Given the description of an element on the screen output the (x, y) to click on. 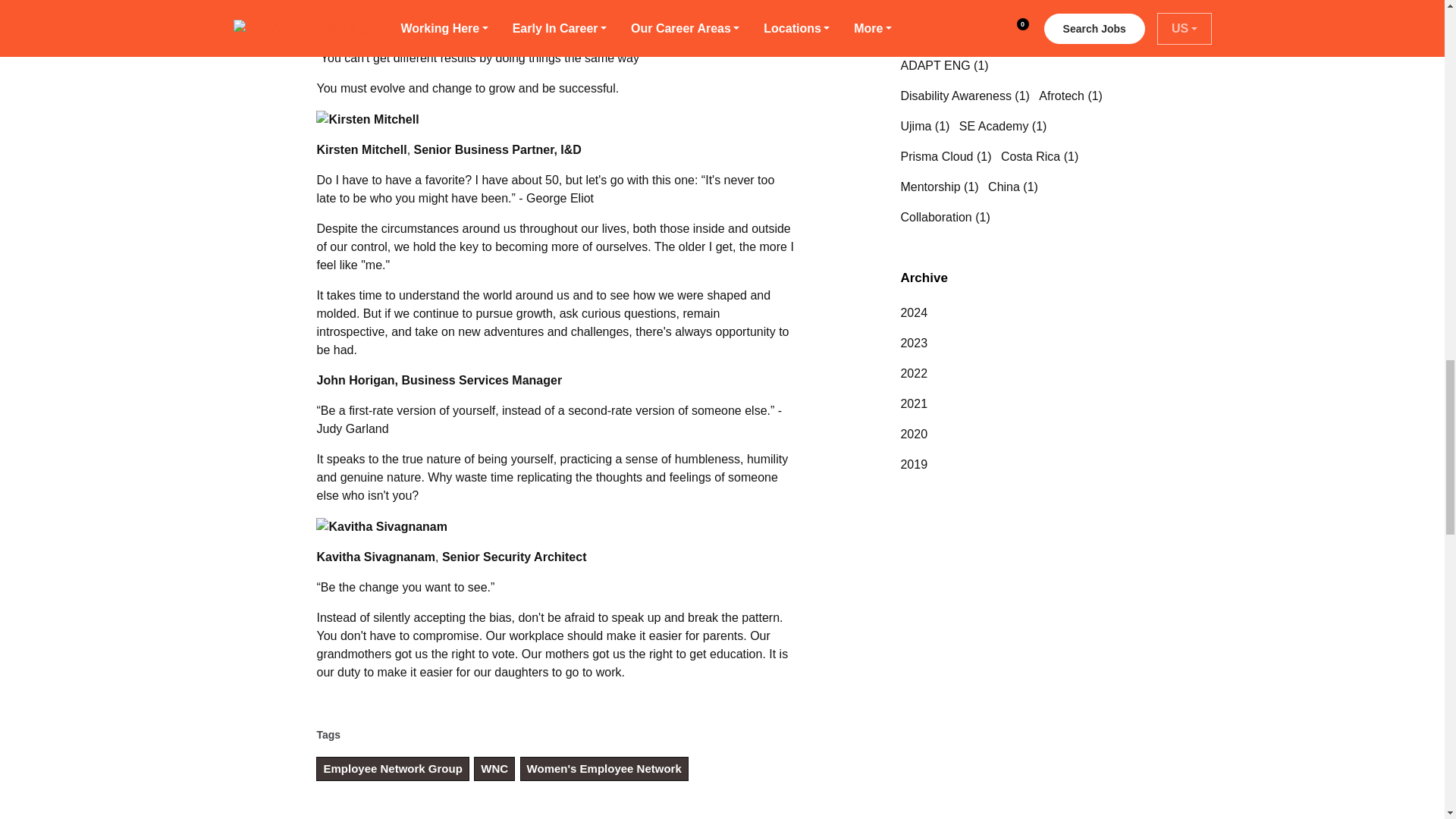
View posts tagged 'WNC' (494, 769)
WNC (494, 769)
View posts tagged 'Women's Employee Network' (603, 769)
Employee Network Group (391, 769)
View posts tagged 'Employee Network Group' (391, 769)
